Given the description of an element on the screen output the (x, y) to click on. 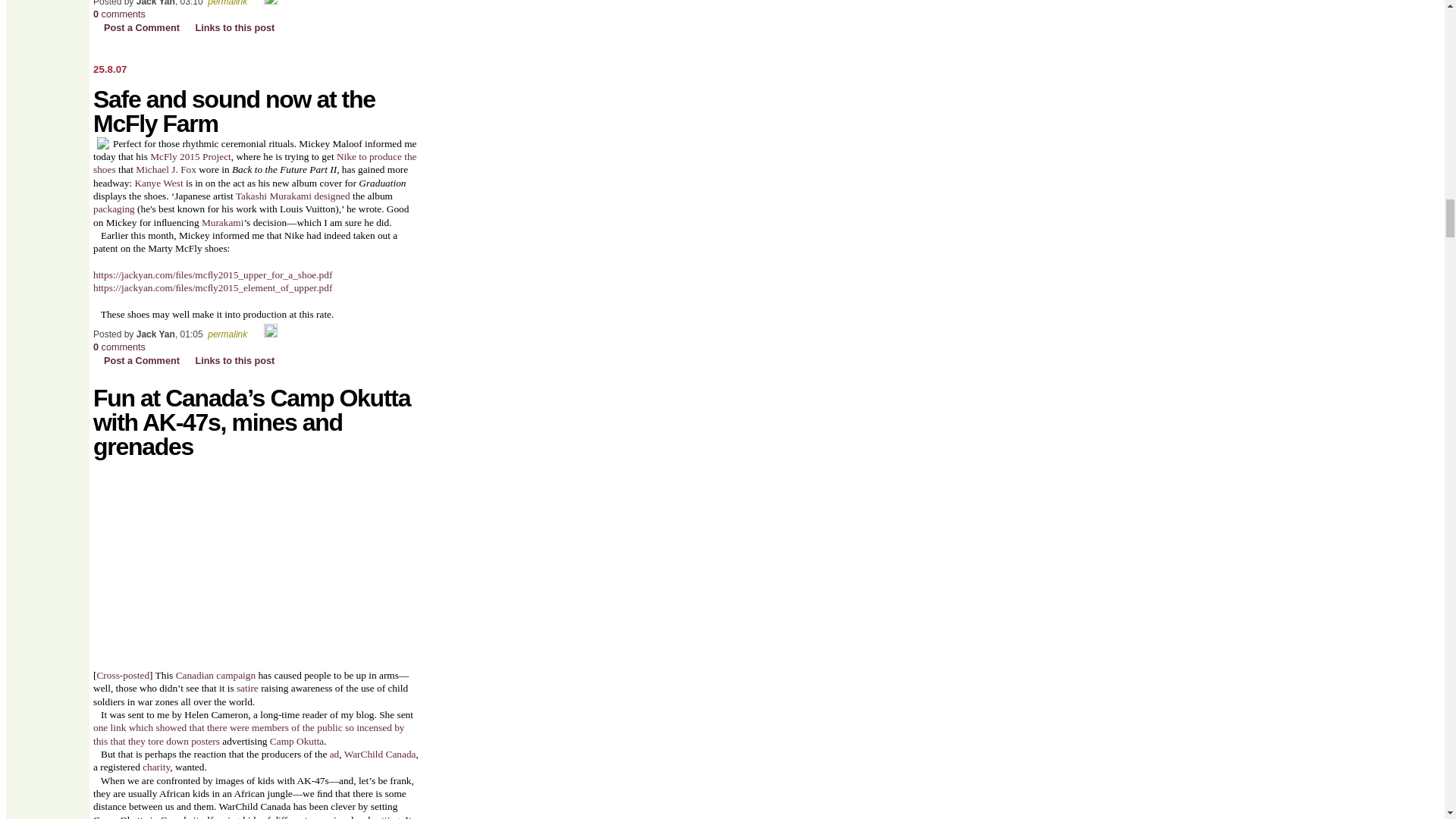
Email Post (256, 3)
Edit Post (270, 333)
Email Post (256, 333)
Edit Post (270, 3)
